Given the description of an element on the screen output the (x, y) to click on. 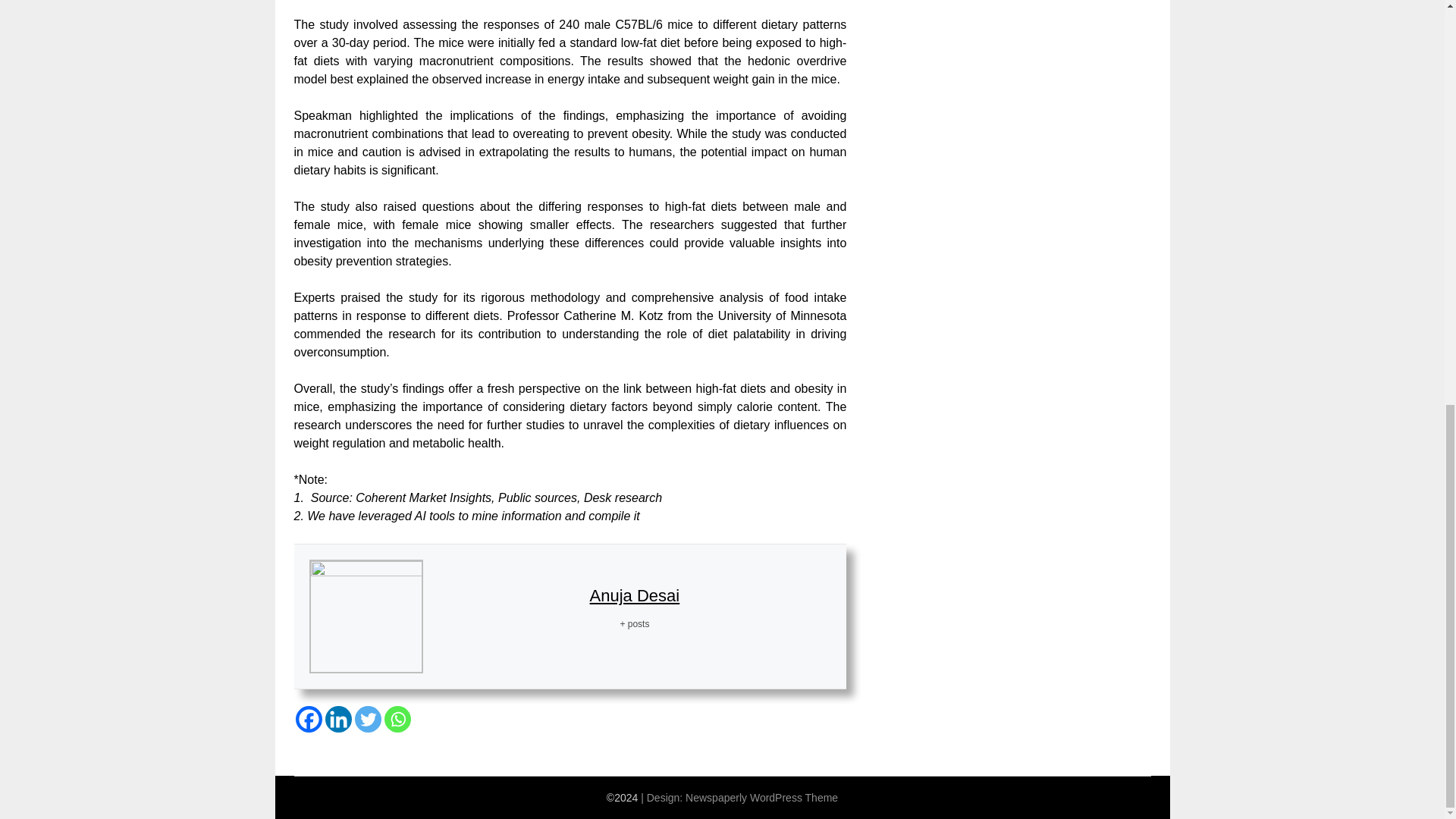
Anuja Desai (634, 595)
Whatsapp (397, 718)
Linkedin (337, 718)
Twitter (368, 718)
Newspaperly WordPress Theme (761, 797)
Facebook (308, 718)
